Given the description of an element on the screen output the (x, y) to click on. 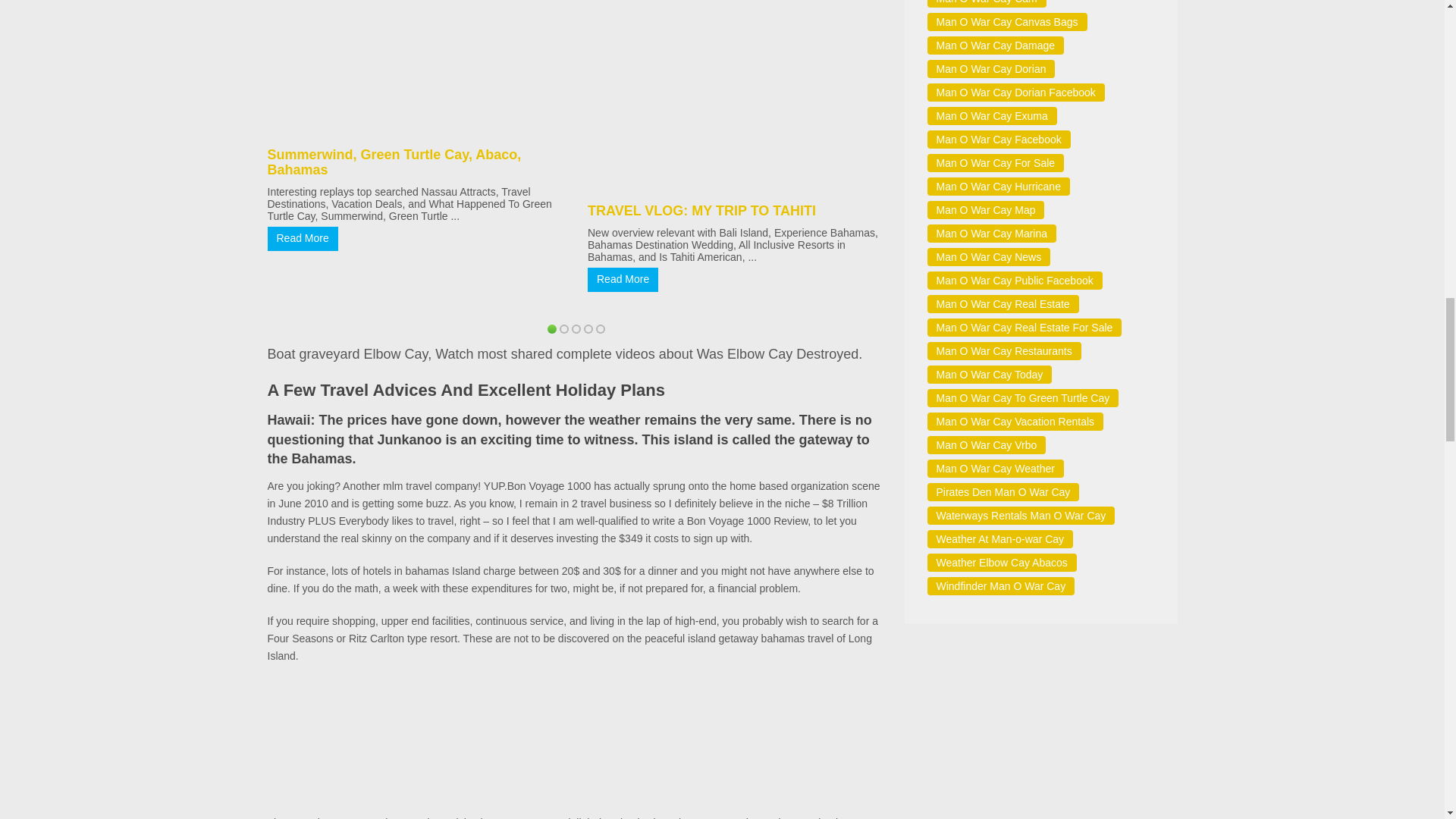
Summerwind, Green Turtle Cay, Abaco, Bahamas (393, 162)
Read More (623, 279)
Read More (301, 238)
TRAVEL VLOG: MY TRIP TO TAHITI (701, 210)
